Given the description of an element on the screen output the (x, y) to click on. 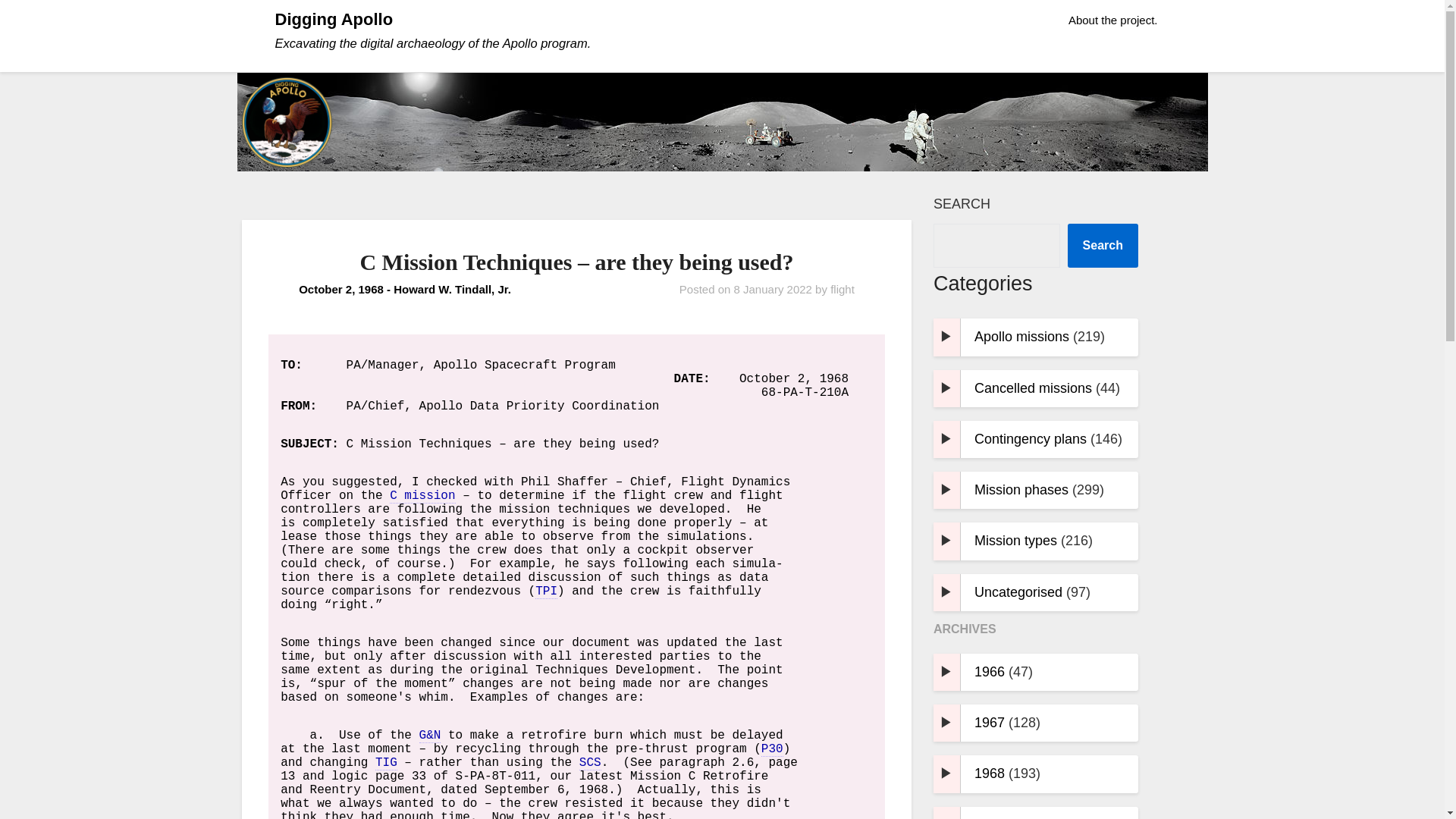
Stability Control System (590, 762)
Time of Ignition (386, 762)
Contingency plans (1030, 438)
8 January 2022 (772, 288)
Apollo 7 (422, 495)
Program 30 (772, 749)
About the project. (1113, 20)
Search (1102, 245)
Cancelled missions (1033, 387)
